Given the description of an element on the screen output the (x, y) to click on. 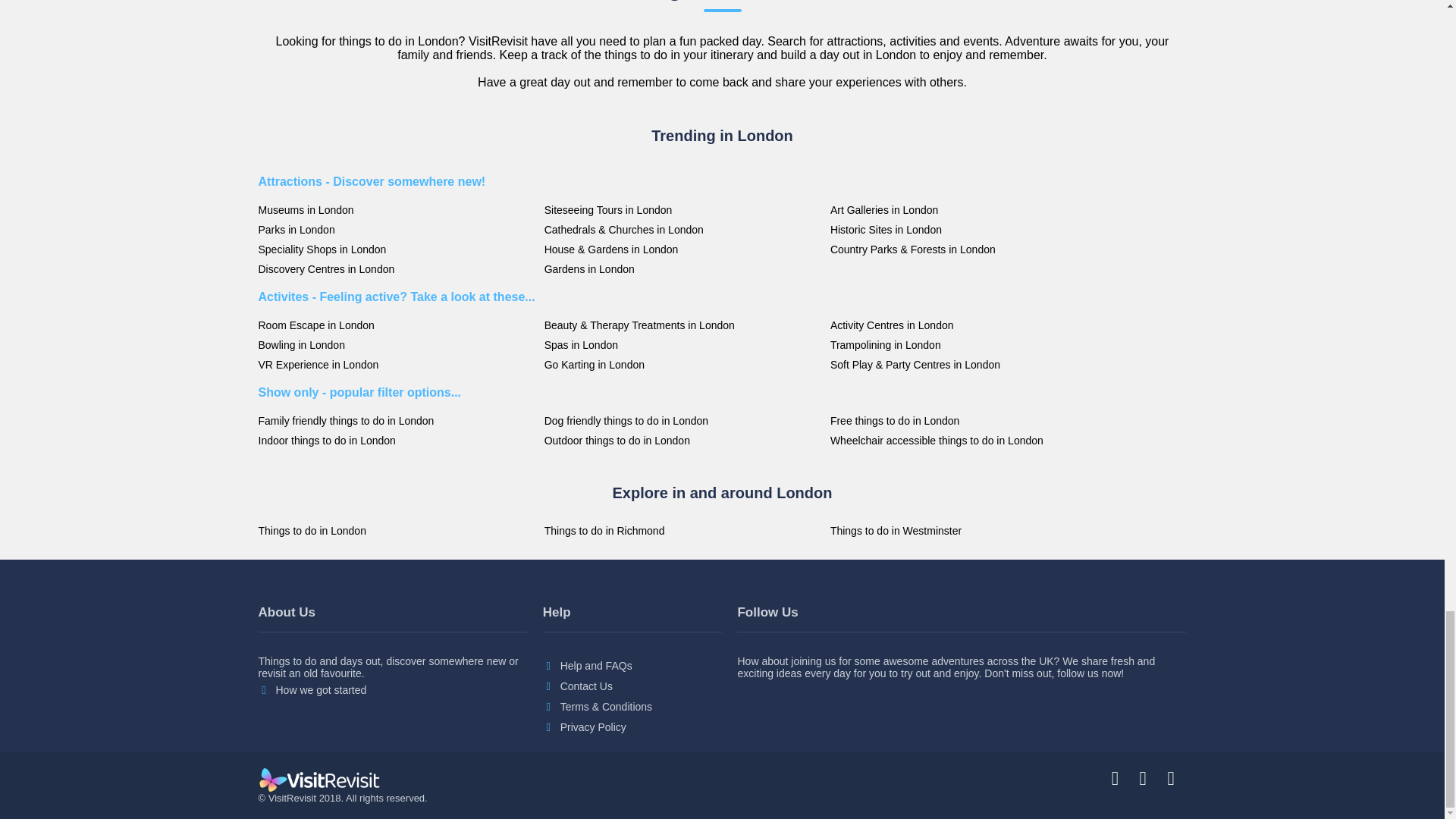
Museums in London (396, 209)
Gardens in London (683, 268)
Parks in London (396, 229)
Speciality Shops in London (396, 249)
Historic Sites in London (968, 229)
Room Escape in London (396, 325)
Activity Centres in London (968, 325)
Art Galleries in London (968, 209)
Discovery Centres in London (396, 268)
Siteseeing Tours in London (683, 209)
